Given the description of an element on the screen output the (x, y) to click on. 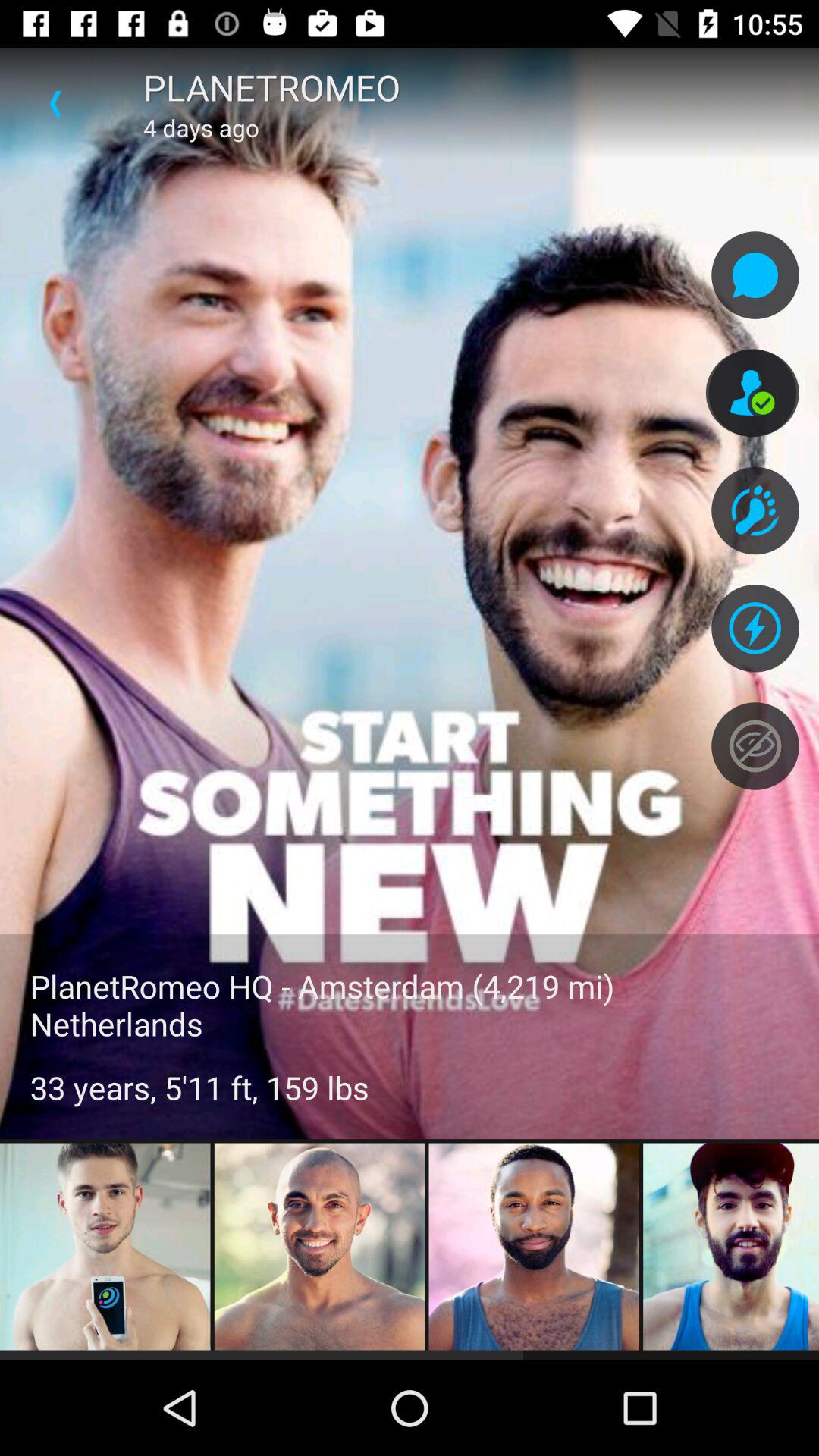
select item above the planetromeo hq amsterdam icon (55, 103)
